Given the description of an element on the screen output the (x, y) to click on. 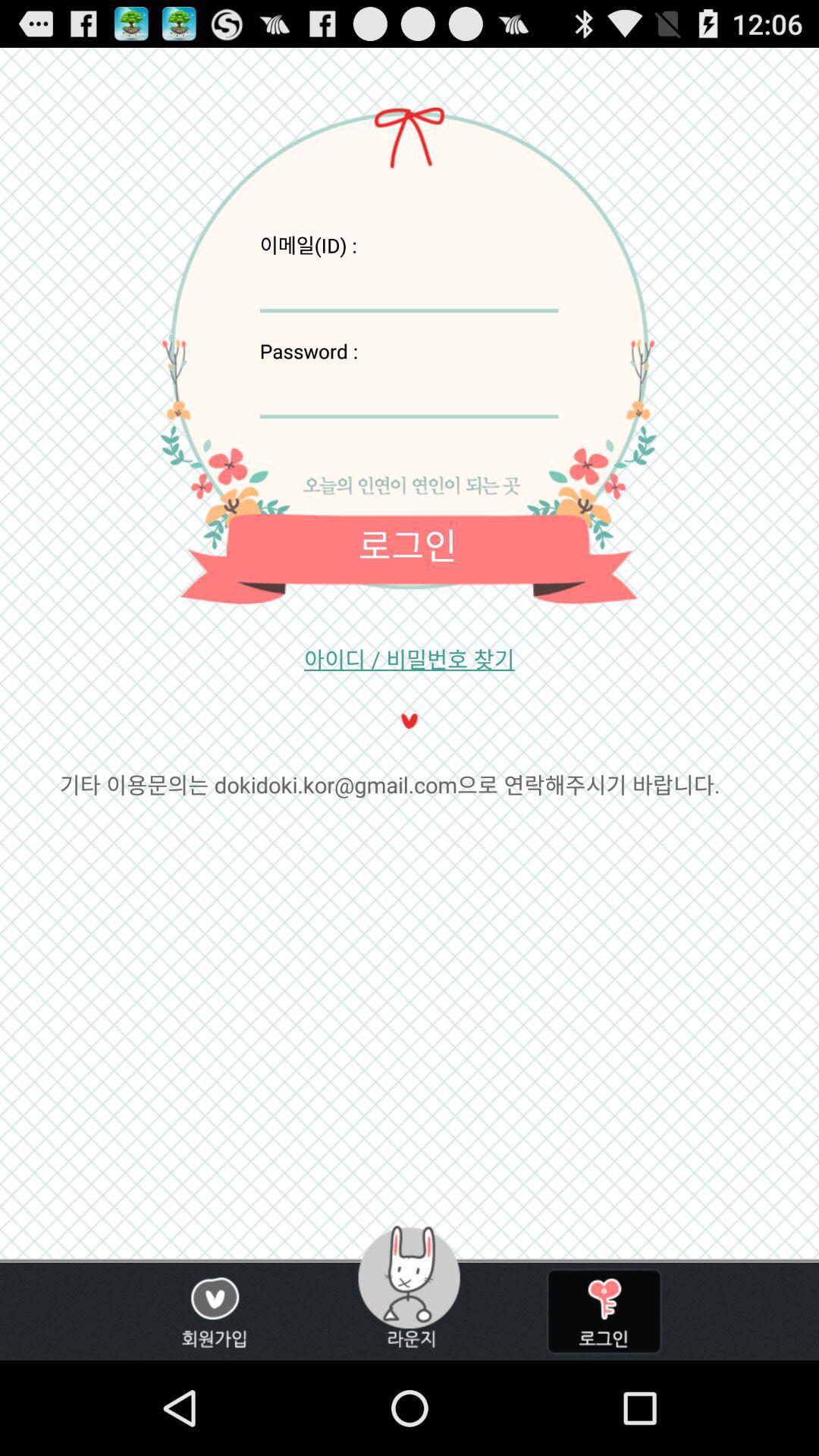
input password (408, 391)
